Given the description of an element on the screen output the (x, y) to click on. 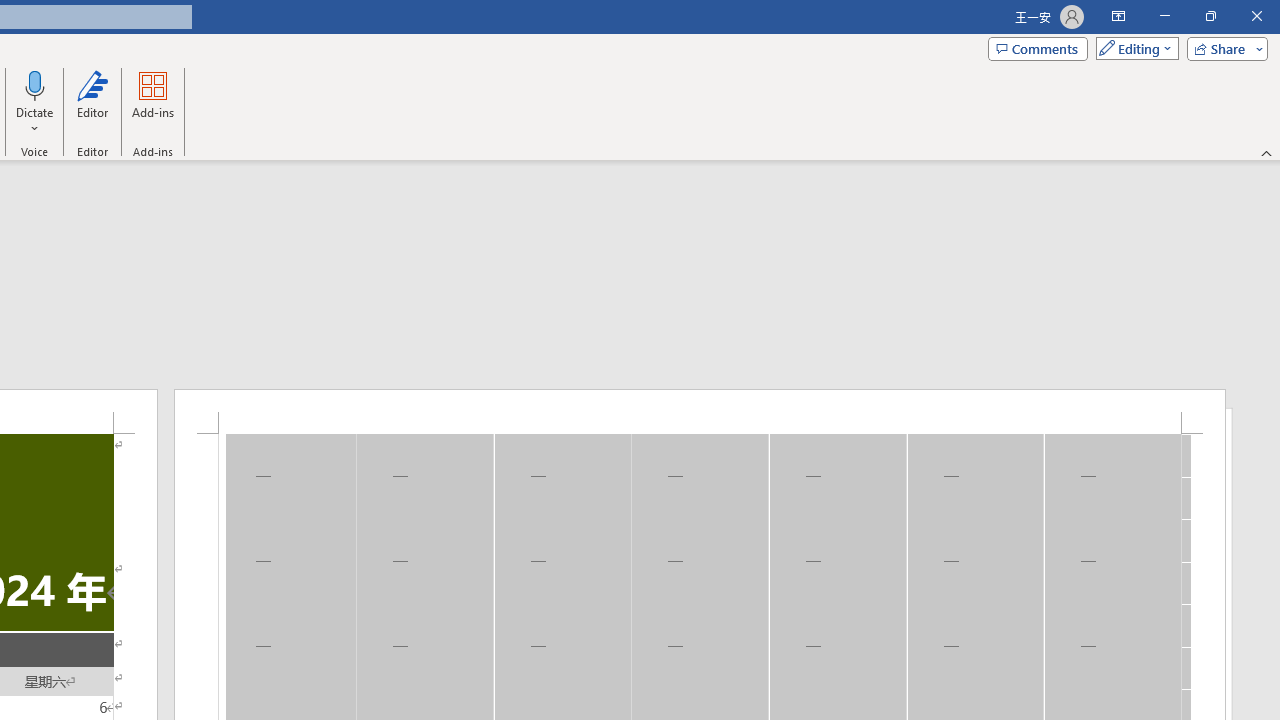
Header -Section 1- (700, 411)
Comments (1038, 48)
Mode (1133, 47)
Minimize (1164, 16)
Editor (92, 102)
Collapse the Ribbon (1267, 152)
Share (1223, 48)
Dictate (35, 102)
Ribbon Display Options (1118, 16)
Restore Down (1210, 16)
